Given the description of an element on the screen output the (x, y) to click on. 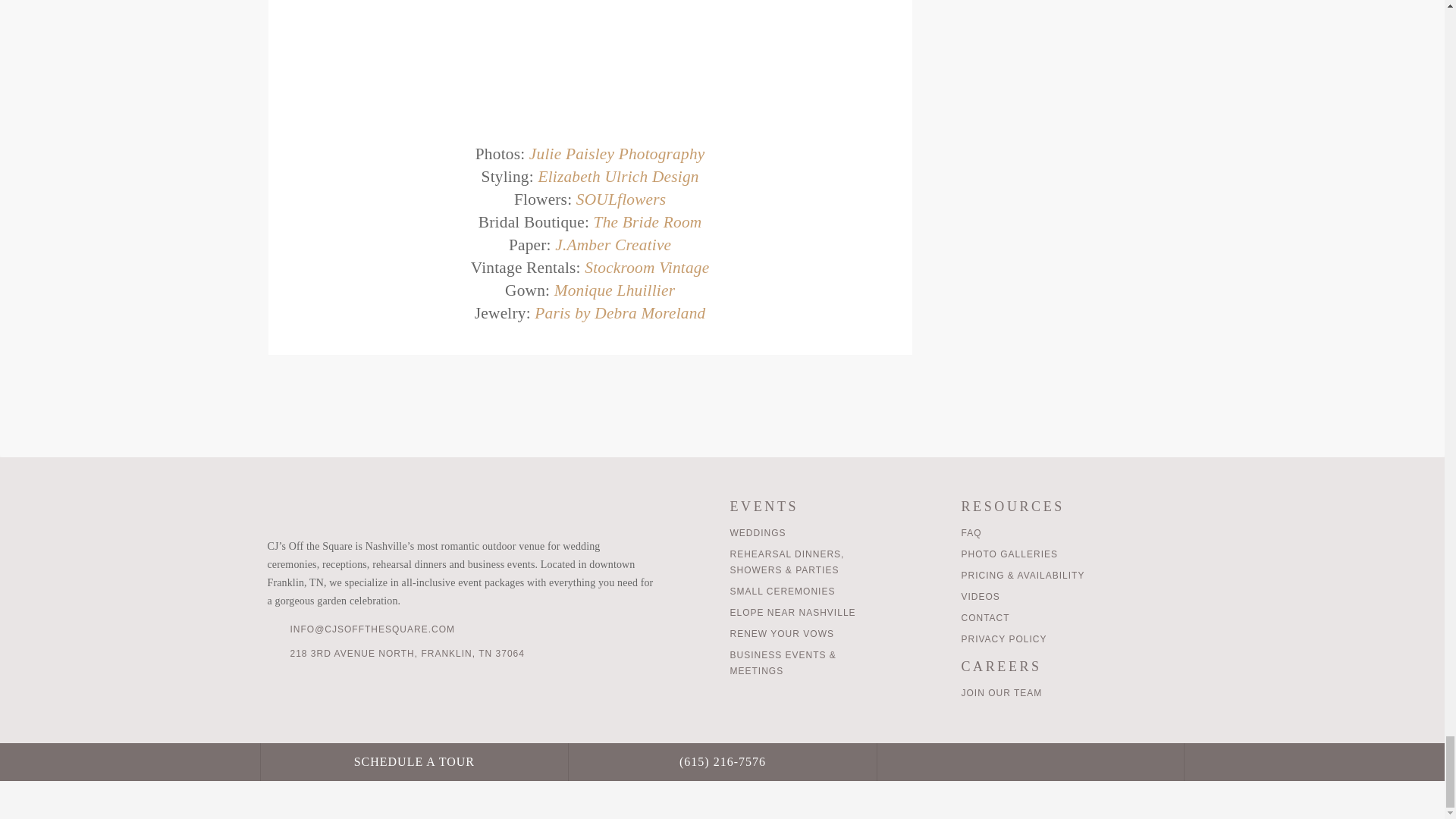
Julie Paisley Photography (616, 153)
